Given the description of an element on the screen output the (x, y) to click on. 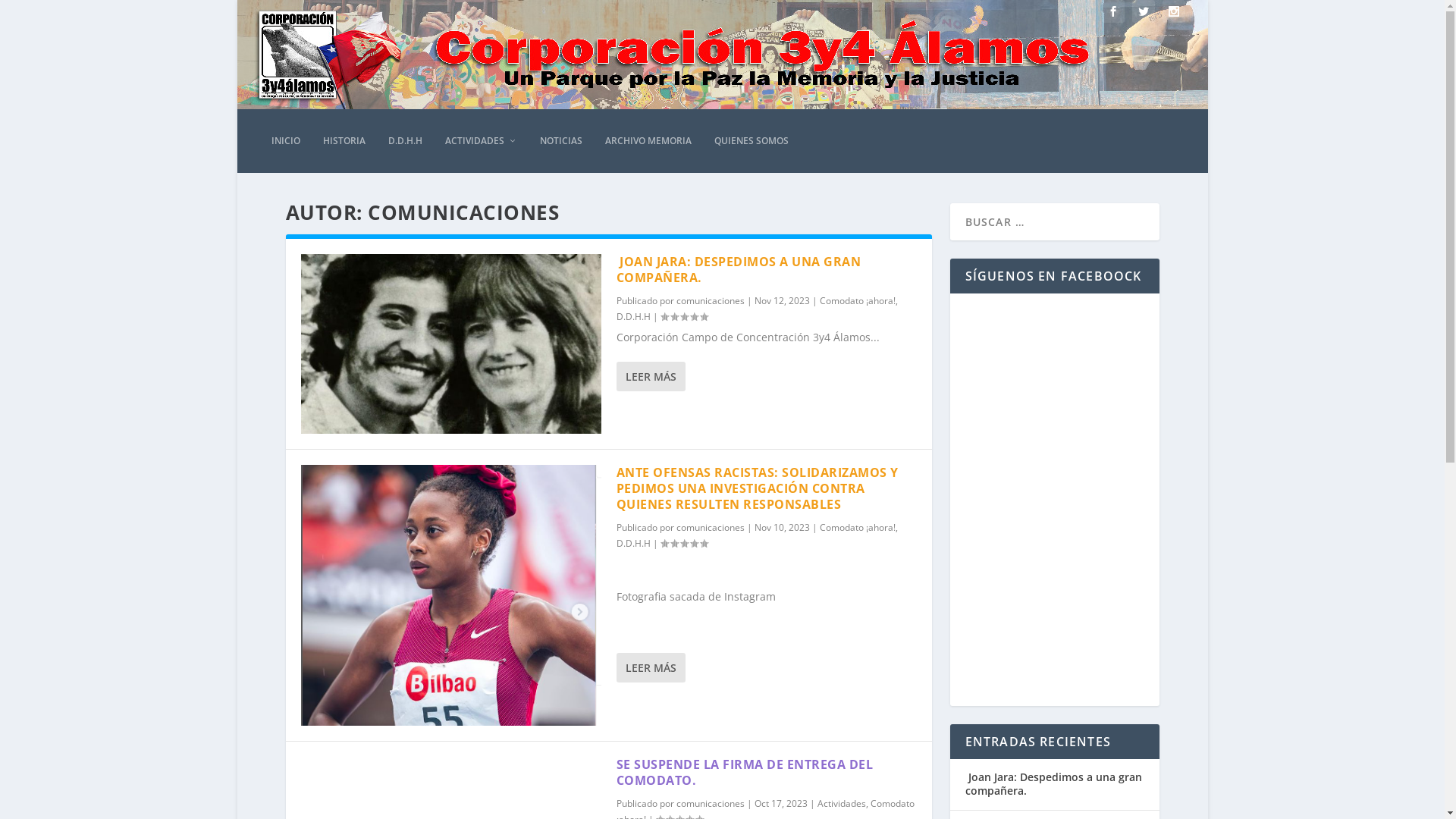
D.D.H.H Element type: text (632, 316)
Buscar Element type: text (29, 14)
comunicaciones Element type: text (710, 526)
NOTICIAS Element type: text (560, 140)
QUIENES SOMOS Element type: text (751, 140)
comunicaciones Element type: text (710, 803)
ACTIVIDADES Element type: text (480, 140)
D.D.H.H Element type: text (632, 542)
HISTORIA Element type: text (344, 140)
SE SUSPENDE LA FIRMA DE ENTREGA DEL COMODATO. Element type: text (743, 772)
ARCHIVO MEMORIA Element type: text (648, 140)
comunicaciones Element type: text (710, 300)
D.D.H.H Element type: text (405, 140)
INICIO Element type: text (285, 140)
Actividades Element type: text (841, 803)
